Given the description of an element on the screen output the (x, y) to click on. 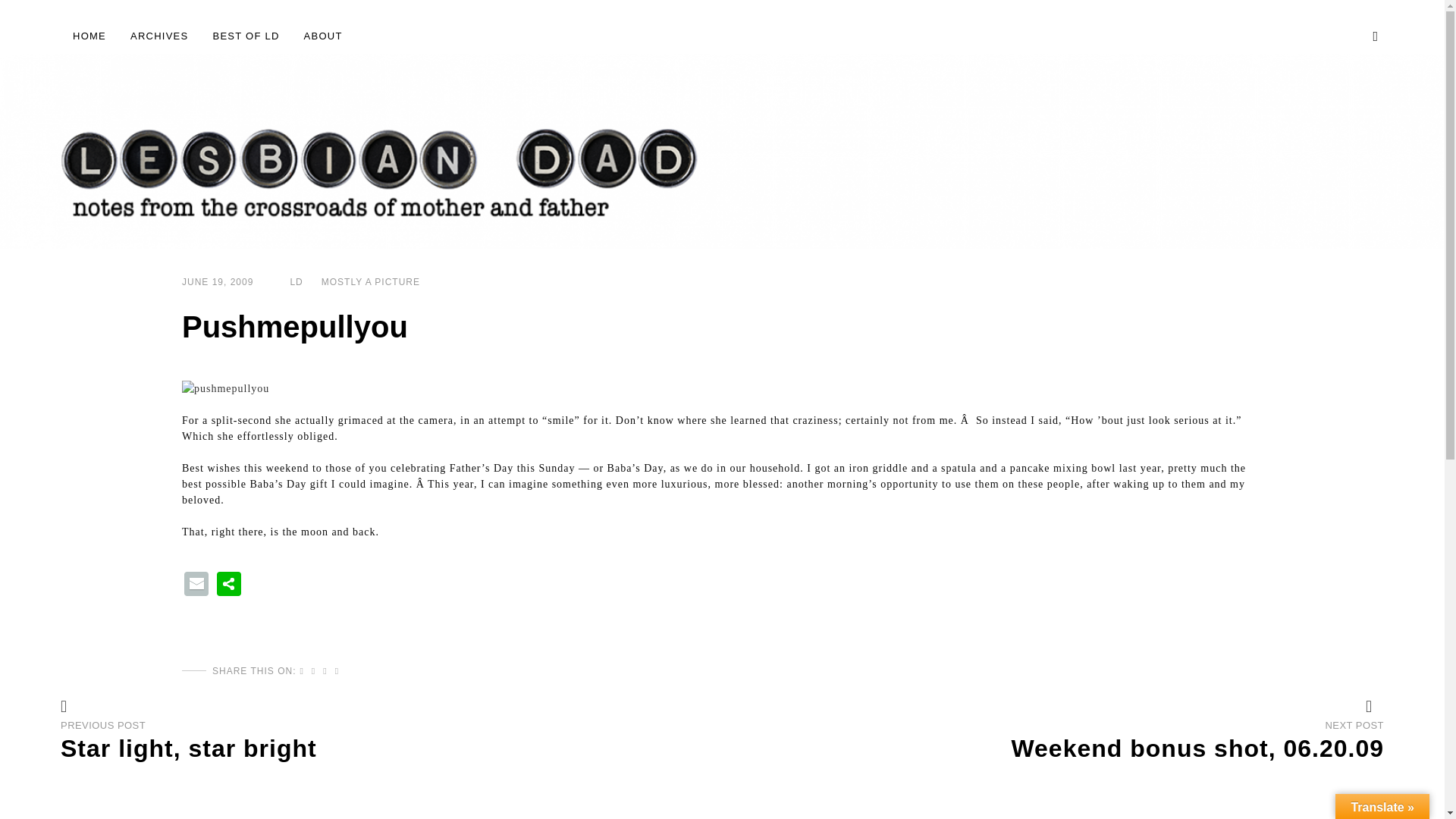
pushmepullyou by LesbianDad, on Flickr (225, 387)
MOSTLY A PICTURE (370, 282)
ARCHIVES (363, 738)
JUNE 19, 2009 (158, 35)
HOME (226, 282)
Pushmepullyou (89, 35)
BEST OF LD (313, 670)
ABOUT (245, 35)
Skip to content (323, 35)
Pushmepullyou (295, 282)
Pushmepullyou (336, 670)
Pushmepullyou (1051, 425)
